Given the description of an element on the screen output the (x, y) to click on. 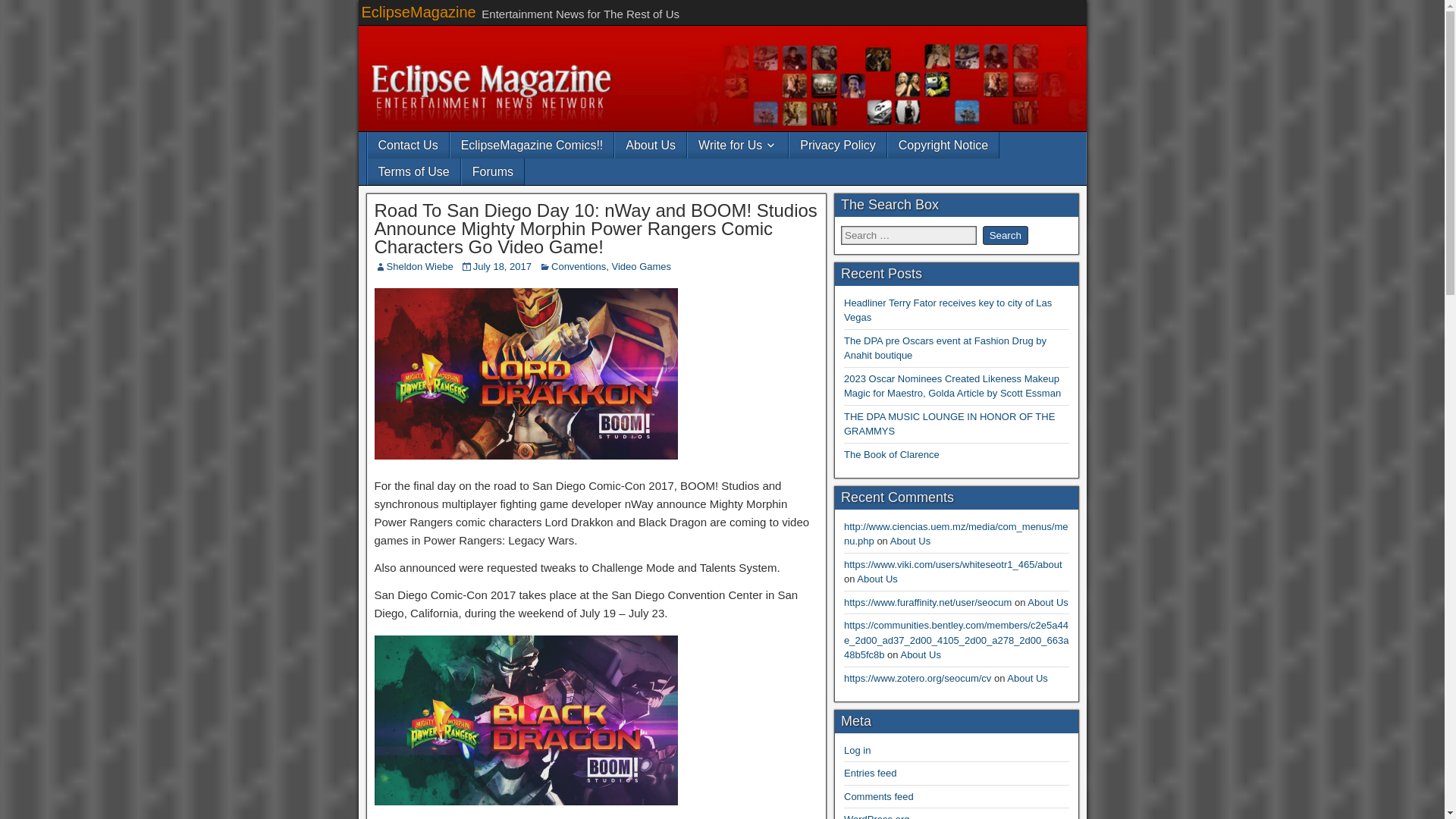
Conventions (578, 266)
Video Games (641, 266)
Search (1004, 235)
The Book of Clarence (891, 454)
Forums (492, 171)
Search (1004, 235)
Privacy Policy (837, 144)
EclipseMagazine (418, 12)
About Us (876, 578)
Copyright Notice (943, 144)
Write for Us (737, 144)
About Us (919, 654)
Search (1004, 235)
About Us (909, 541)
